Given the description of an element on the screen output the (x, y) to click on. 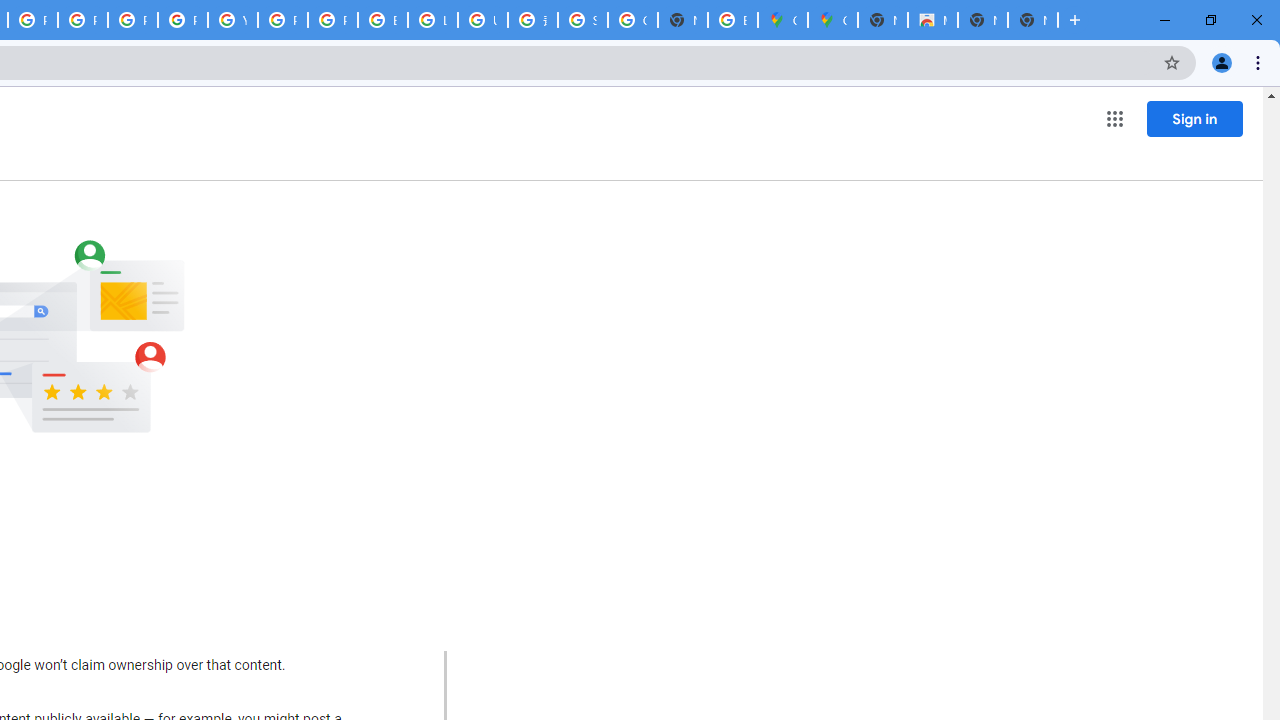
Explore new street-level details - Google Maps Help (732, 20)
Sign in - Google Accounts (582, 20)
Google Maps (832, 20)
New Tab (1032, 20)
Privacy Help Center - Policies Help (82, 20)
YouTube (232, 20)
